Given the description of an element on the screen output the (x, y) to click on. 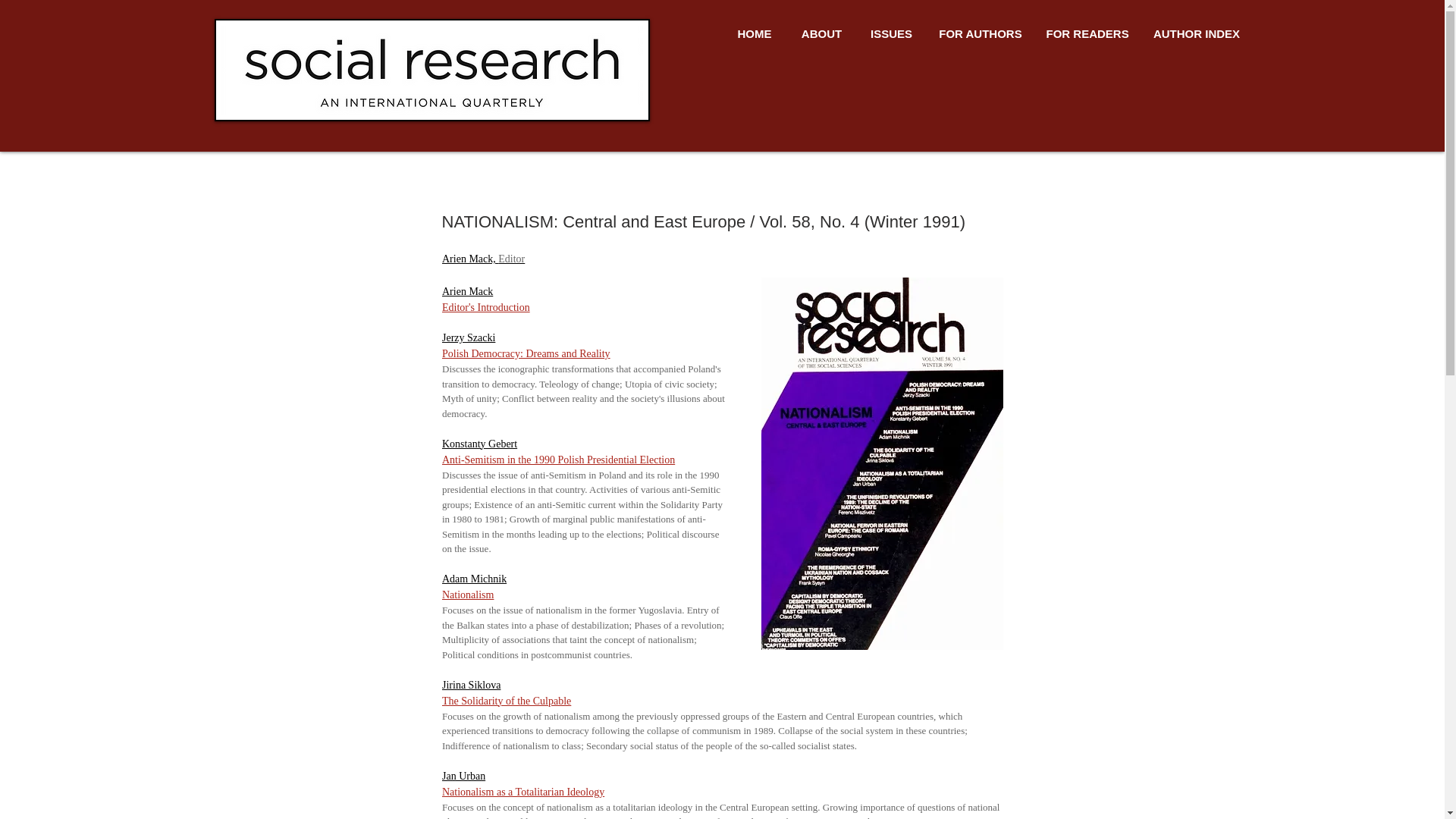
Konstanty Gebert (478, 443)
Nationalism as a Totalitarian Ideology (522, 790)
Jan Urban (462, 776)
The Solidarity of the Culpable (505, 699)
Anti-Semitism in the 1990 Polish Presidential Election (557, 459)
Editor's Introduction (485, 307)
Jerzy Szacki (468, 337)
Nationalism (467, 594)
Jirina Siklova (470, 685)
AUTHOR INDEX (1196, 33)
Adam Michnik (473, 578)
Arien Mack (466, 290)
HOME (754, 33)
Polish Democracy: Dreams and Reality (525, 353)
